Given the description of an element on the screen output the (x, y) to click on. 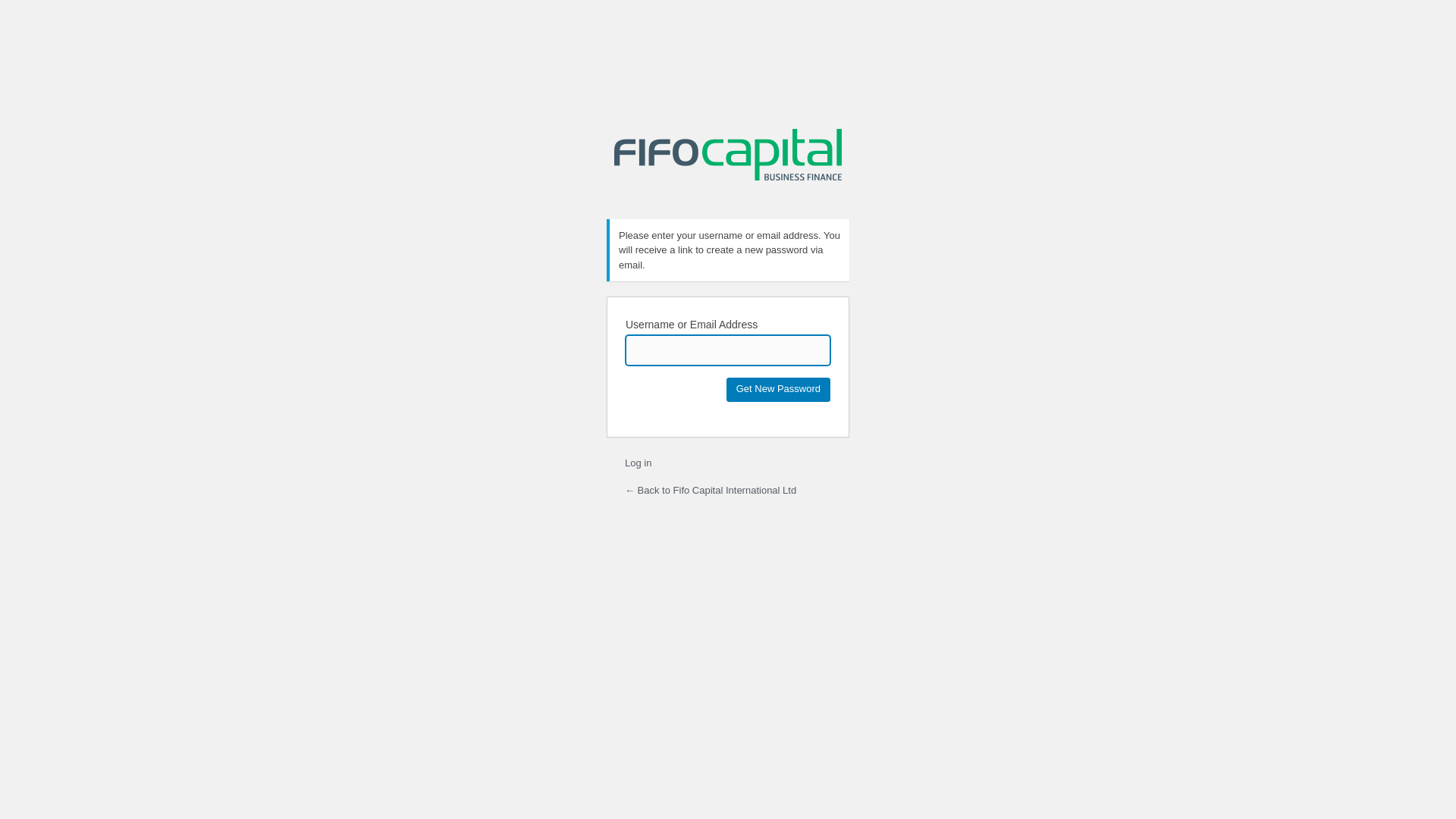
Fifo Capital International Ltd Element type: text (727, 158)
Log in Element type: text (637, 462)
Get New Password Element type: text (778, 389)
